Given the description of an element on the screen output the (x, y) to click on. 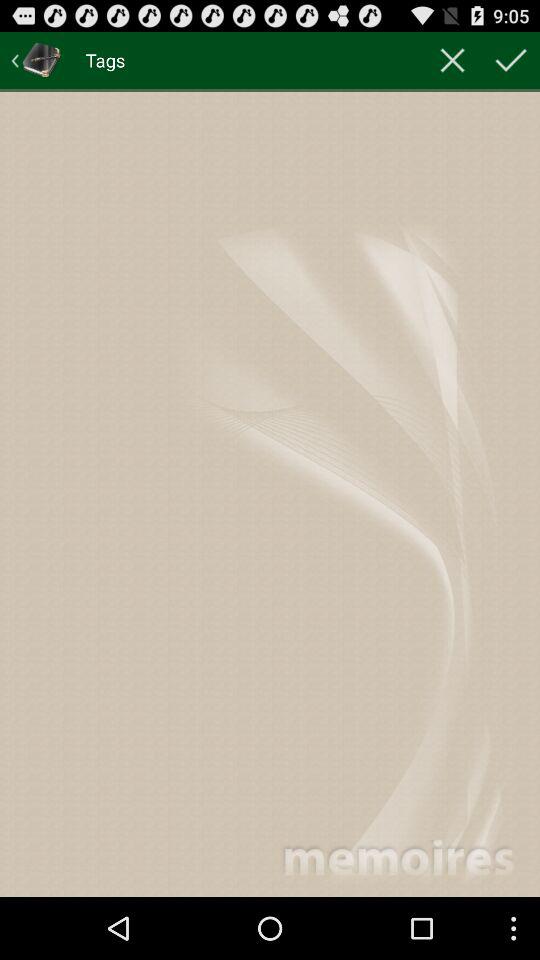
approve (511, 60)
